Given the description of an element on the screen output the (x, y) to click on. 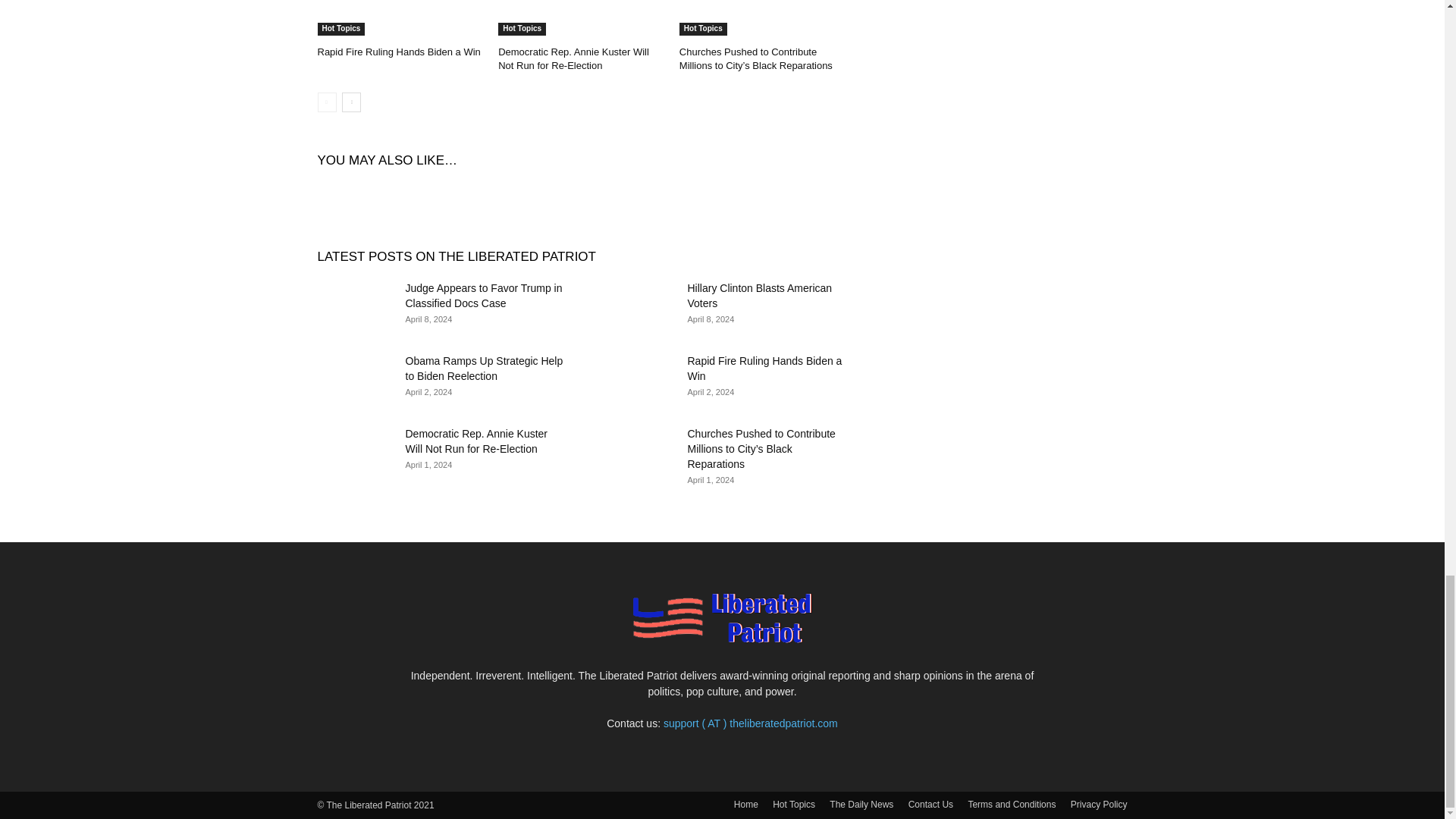
Hot Topics (341, 29)
Rapid Fire Ruling Hands Biden a Win (398, 51)
Rapid Fire Ruling Hands Biden a Win (400, 18)
